Given the description of an element on the screen output the (x, y) to click on. 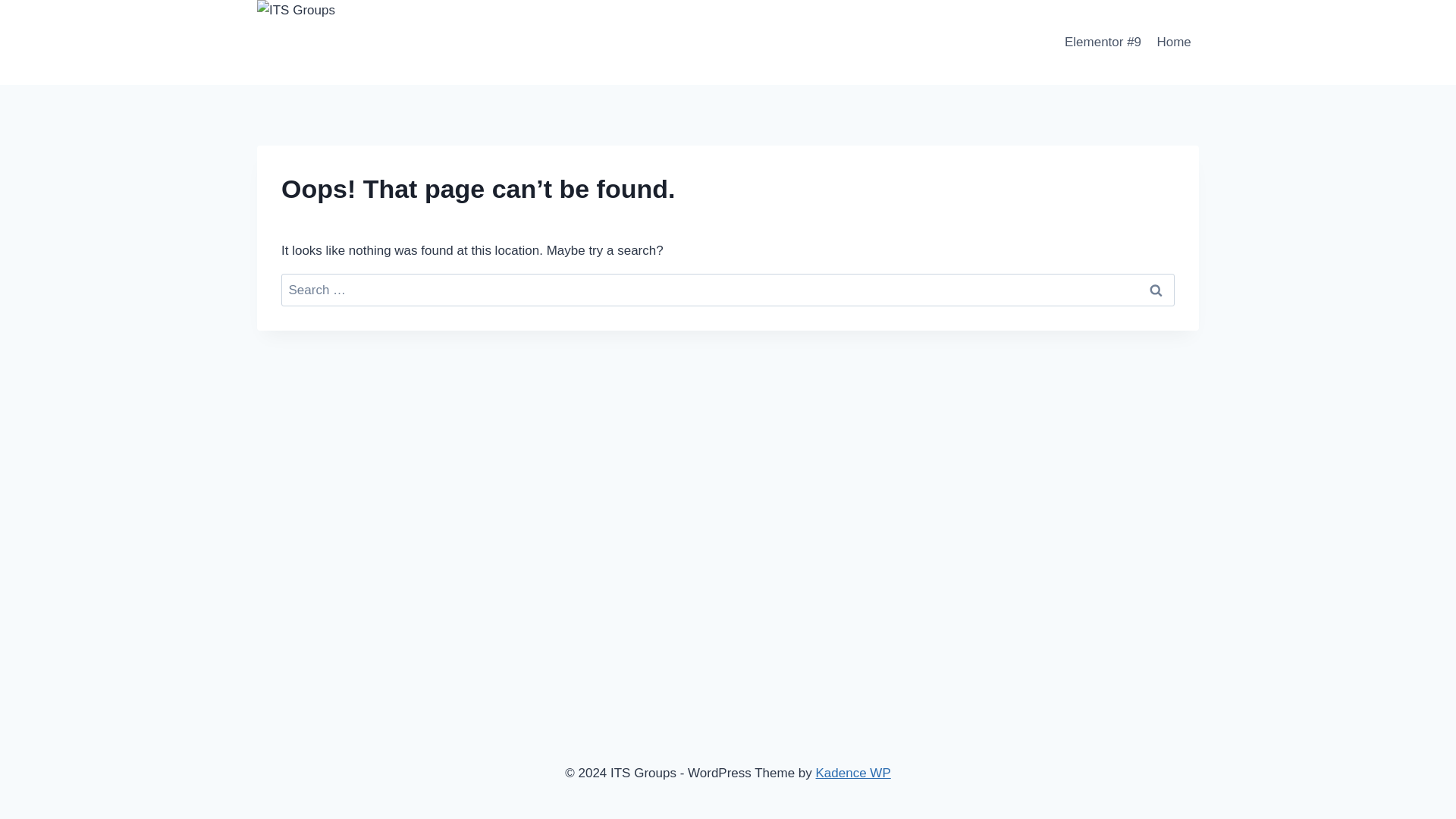
Kadence WP (853, 772)
Home (1173, 42)
Search (1155, 289)
Search (1155, 289)
Search (1155, 289)
